Given the description of an element on the screen output the (x, y) to click on. 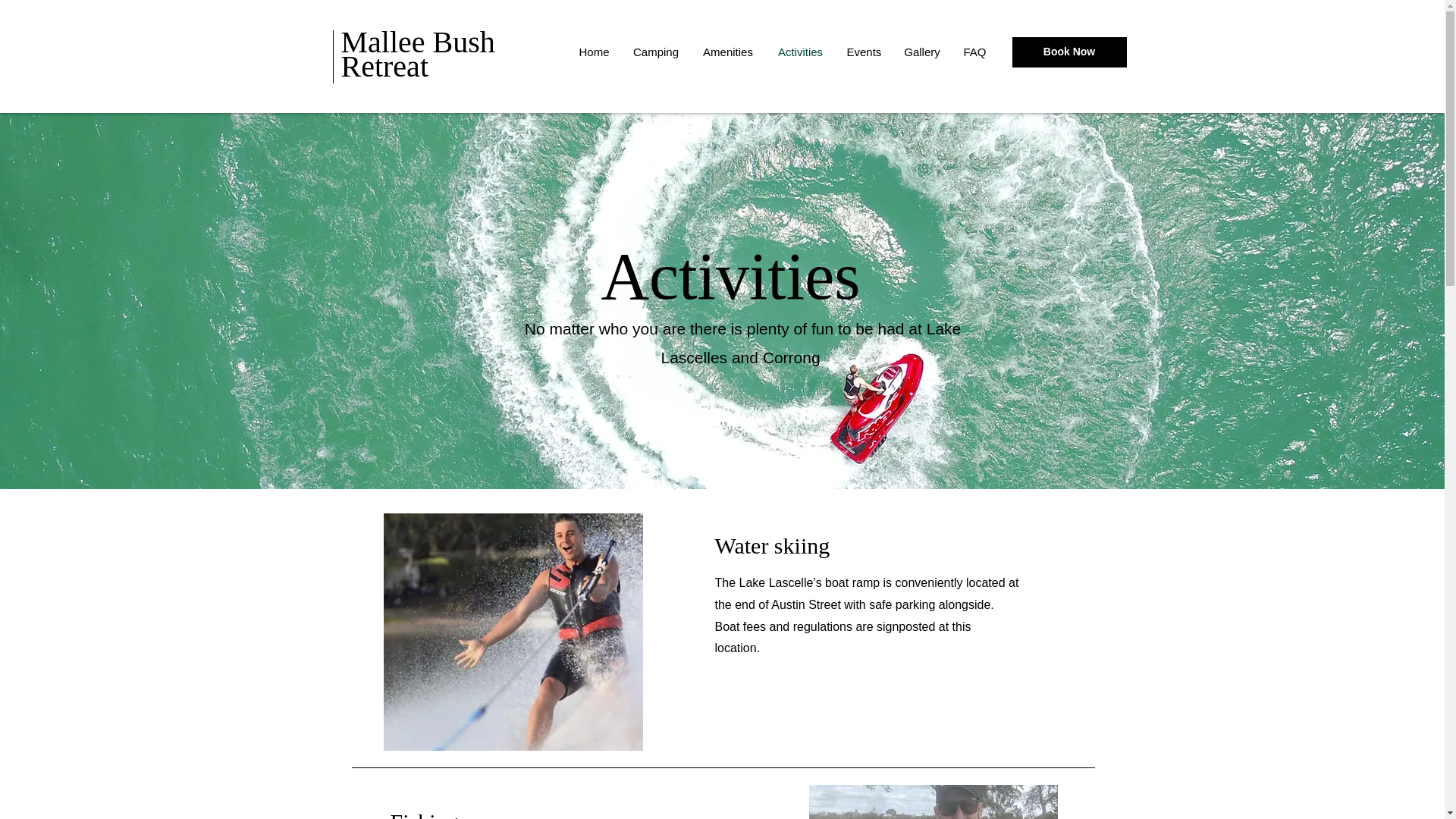
Gallery (921, 51)
Book Now (1068, 51)
Home (594, 51)
Amenities (727, 51)
Mallee Bush Retreat (417, 54)
Activities (800, 51)
Camping (655, 51)
FAQ (974, 51)
Events (863, 51)
